Given the description of an element on the screen output the (x, y) to click on. 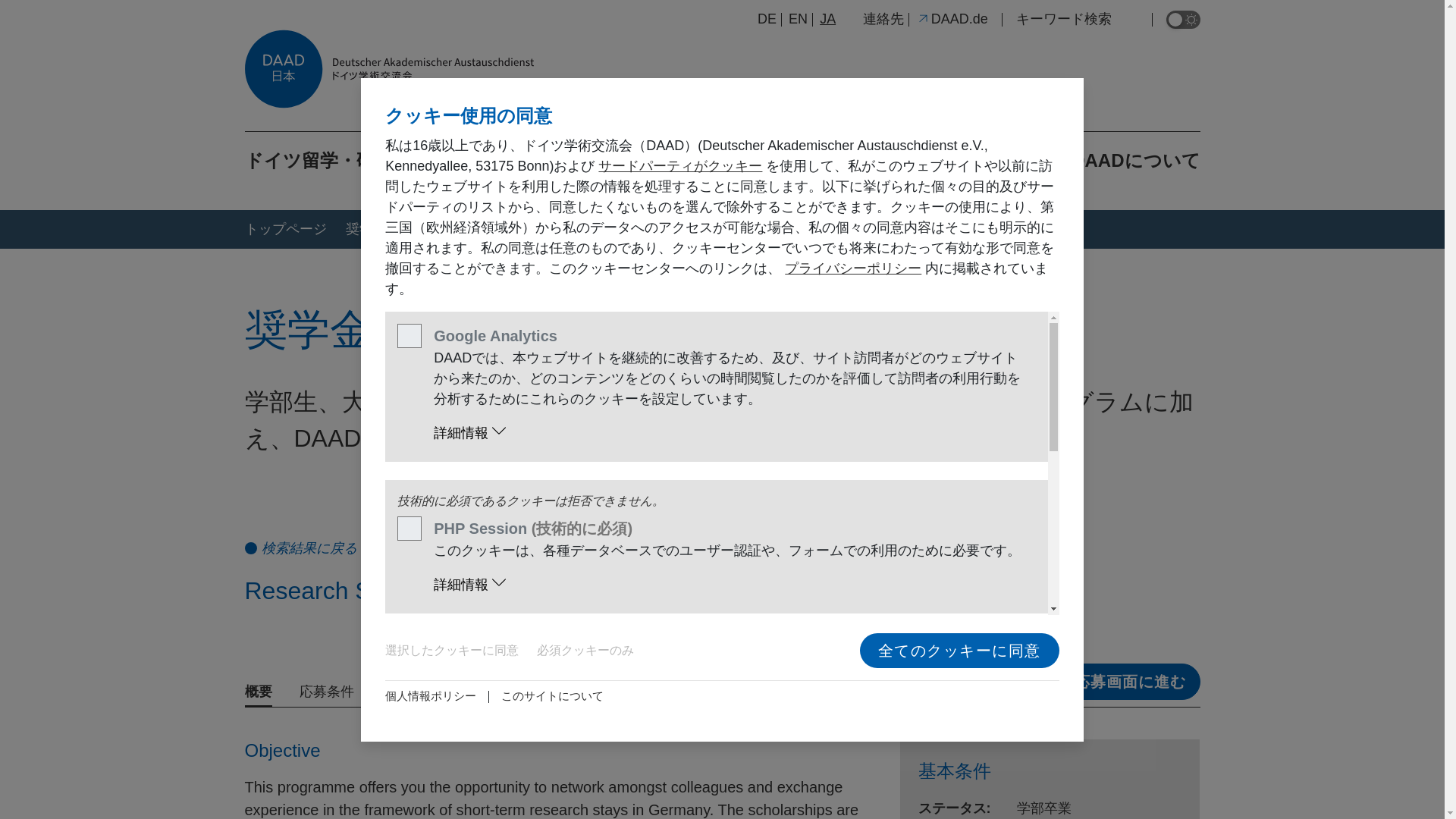
DE (766, 19)
EN (798, 19)
DAAD.de (951, 19)
